Given the description of an element on the screen output the (x, y) to click on. 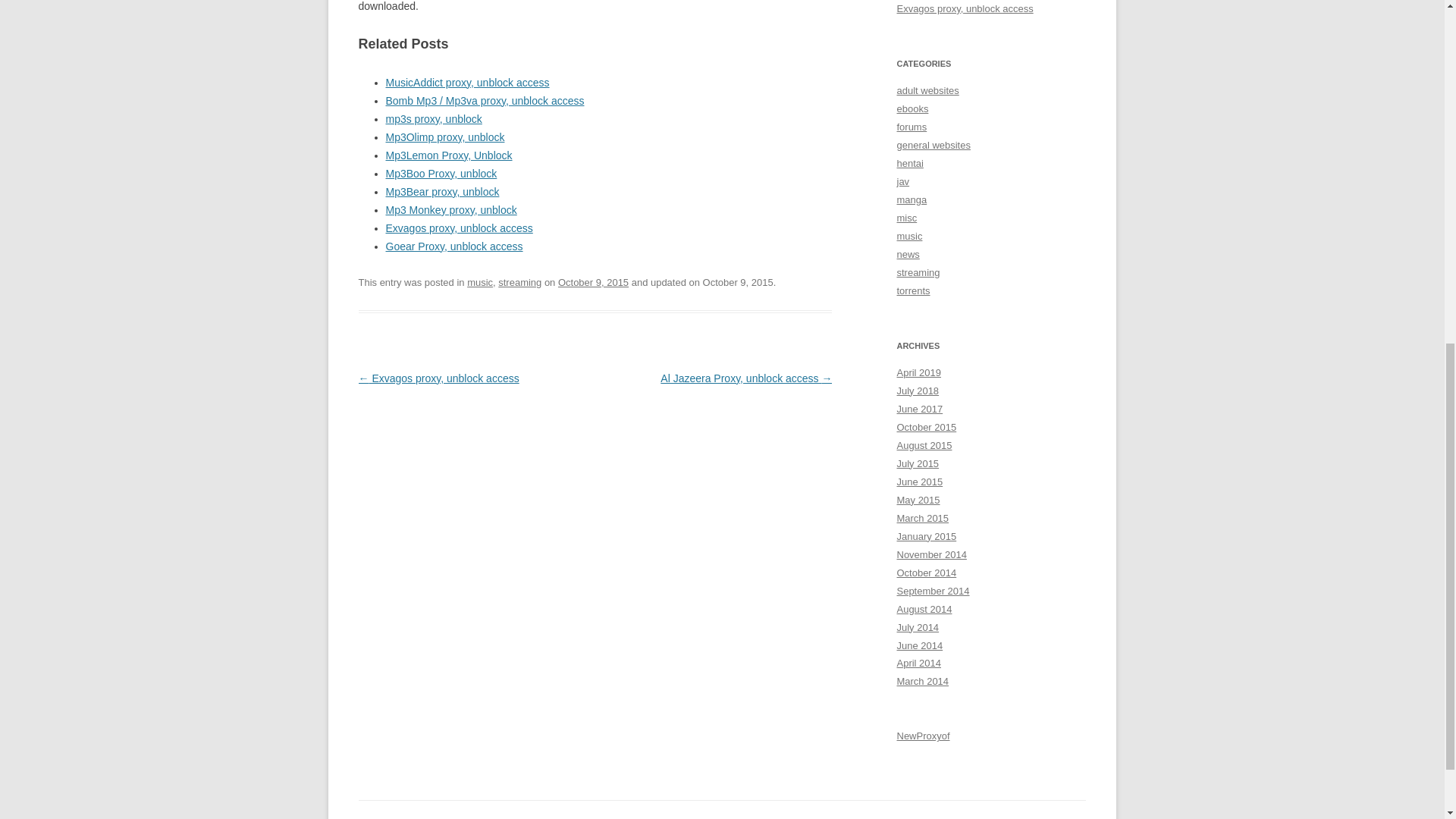
mp3s proxy, unblock (433, 119)
music (480, 282)
MusicAddict proxy, unblock access (466, 82)
October 9, 2015 (592, 282)
streaming (519, 282)
Goear Proxy, unblock access (453, 246)
Mp3Lemon Proxy, Unblock (448, 155)
Mp3Olimp proxy, unblock (444, 137)
mp3s proxy, unblock (433, 119)
Exvagos proxy, unblock access (458, 227)
